Given the description of an element on the screen output the (x, y) to click on. 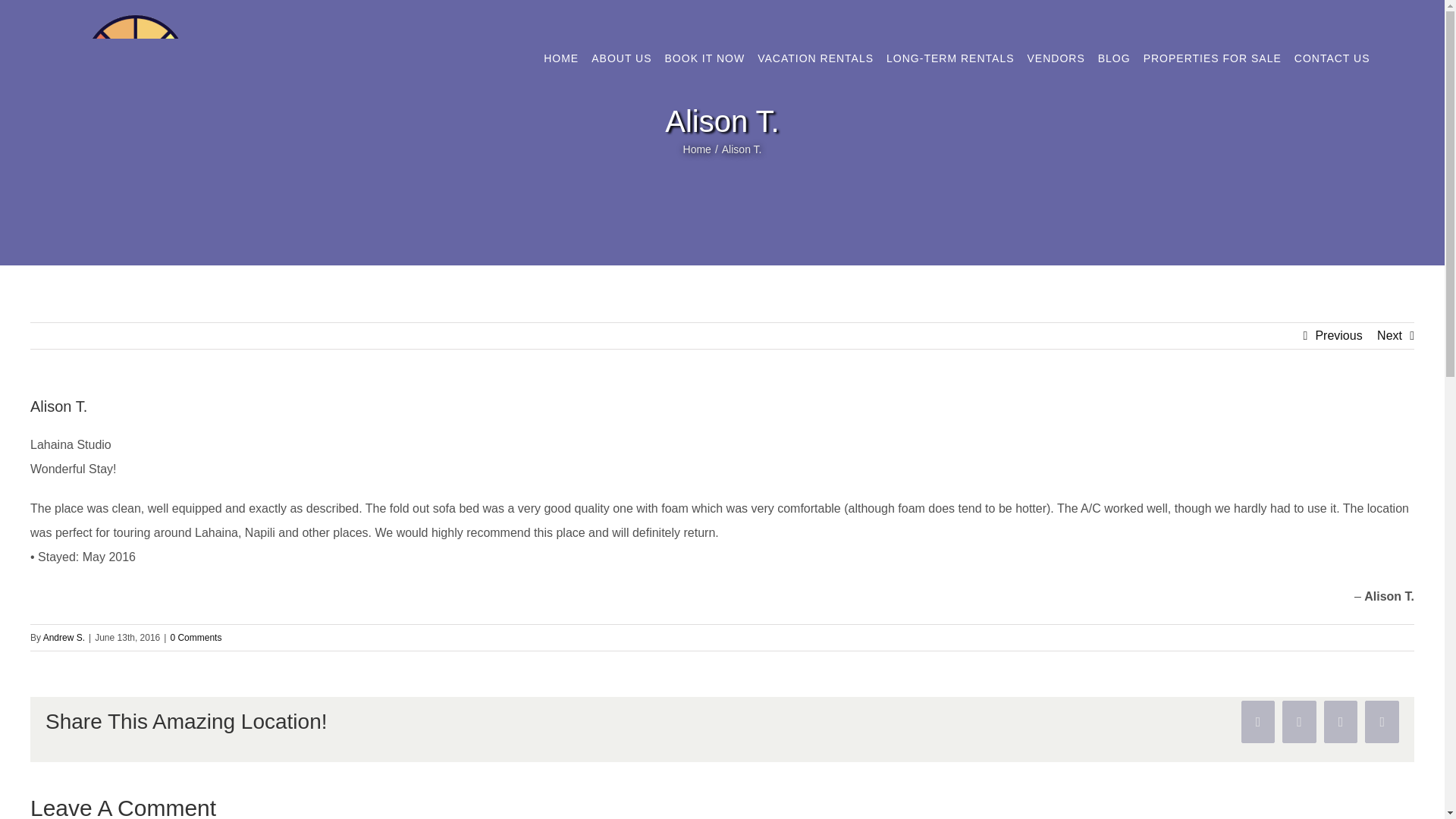
Next (1389, 335)
LONG-TERM RENTALS (950, 58)
CONTACT US (1331, 58)
Home (696, 149)
VACATION RENTALS (815, 58)
Previous (1337, 335)
Posts by Andrew S. (63, 637)
VENDORS (1055, 58)
Andrew S. (63, 637)
0 Comments (195, 637)
